Given the description of an element on the screen output the (x, y) to click on. 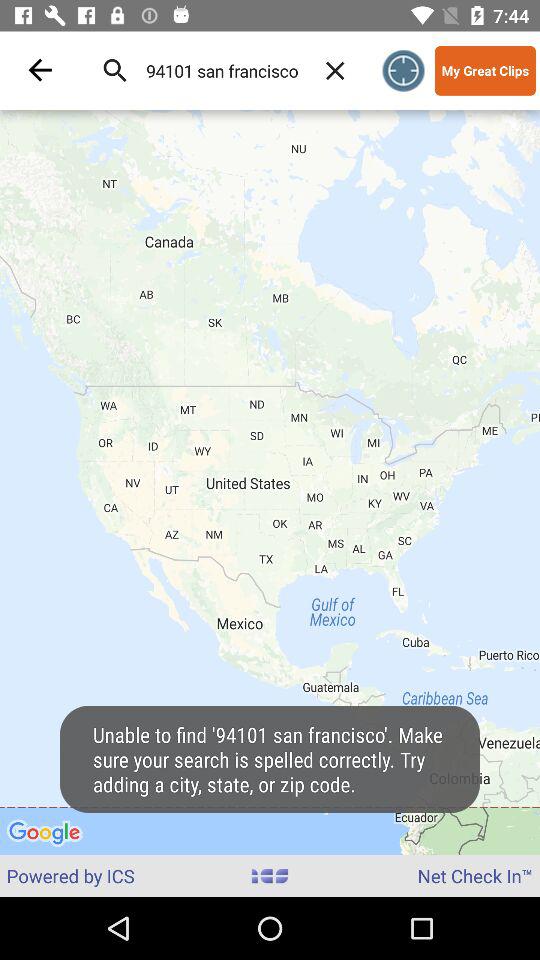
press item above the powered by ics item (270, 482)
